Given the description of an element on the screen output the (x, y) to click on. 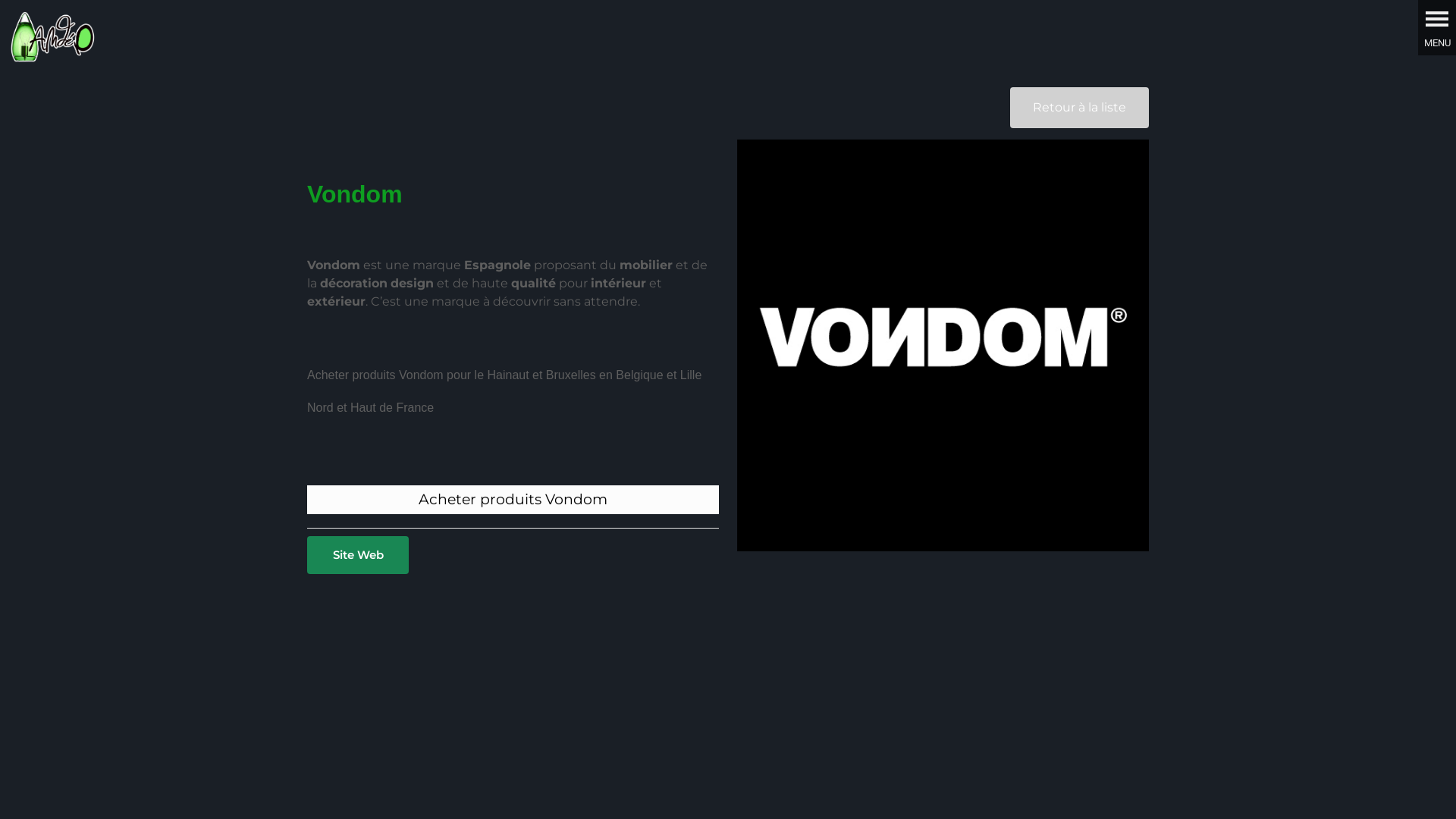
Acheter produits Vondom Element type: text (512, 499)
Site Web Element type: text (357, 555)
